Given the description of an element on the screen output the (x, y) to click on. 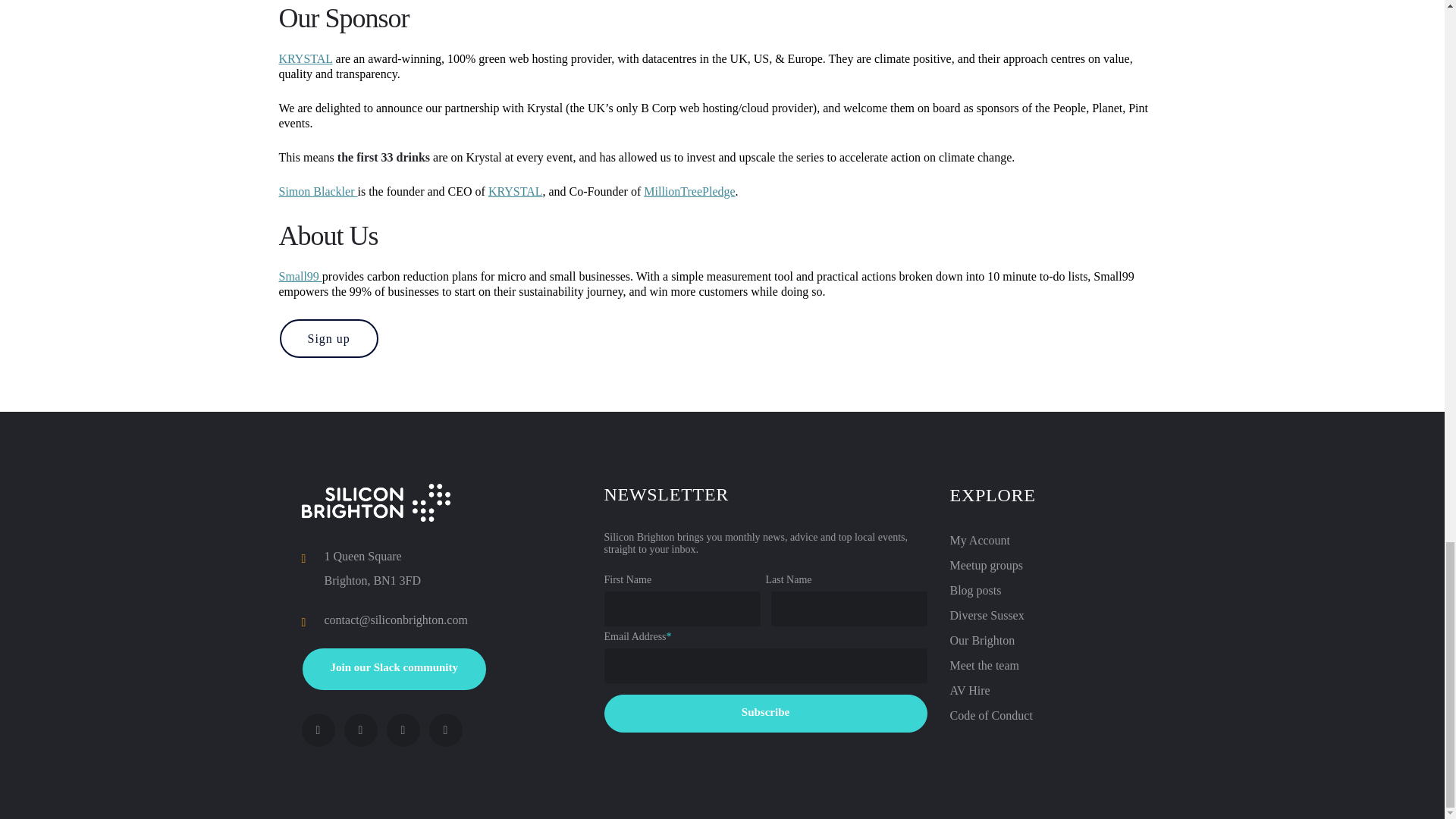
MillionTreePledge (689, 191)
KRYSTAL (515, 191)
Subscribe (765, 713)
Small99  (300, 276)
Simon Blackler  (318, 191)
KRYSTAL (306, 58)
